Given the description of an element on the screen output the (x, y) to click on. 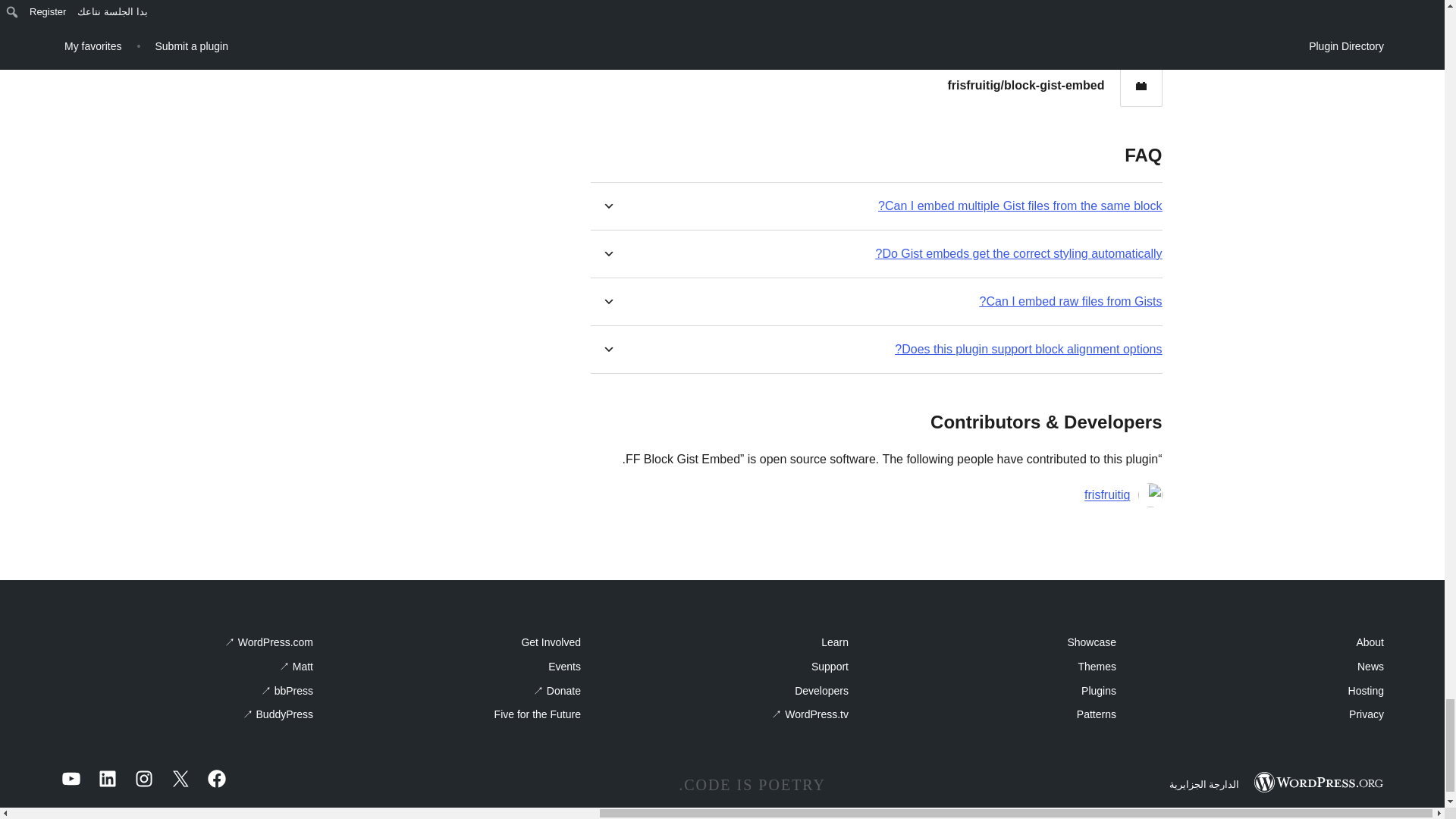
Can I embed raw files from Gists? (1070, 301)
Can I embed multiple Gist files from the same block? (1019, 205)
WordPress.org (1318, 782)
Does this plugin support block alignment options? (1028, 349)
Do Gist embeds get the correct styling automatically? (1018, 253)
